Given the description of an element on the screen output the (x, y) to click on. 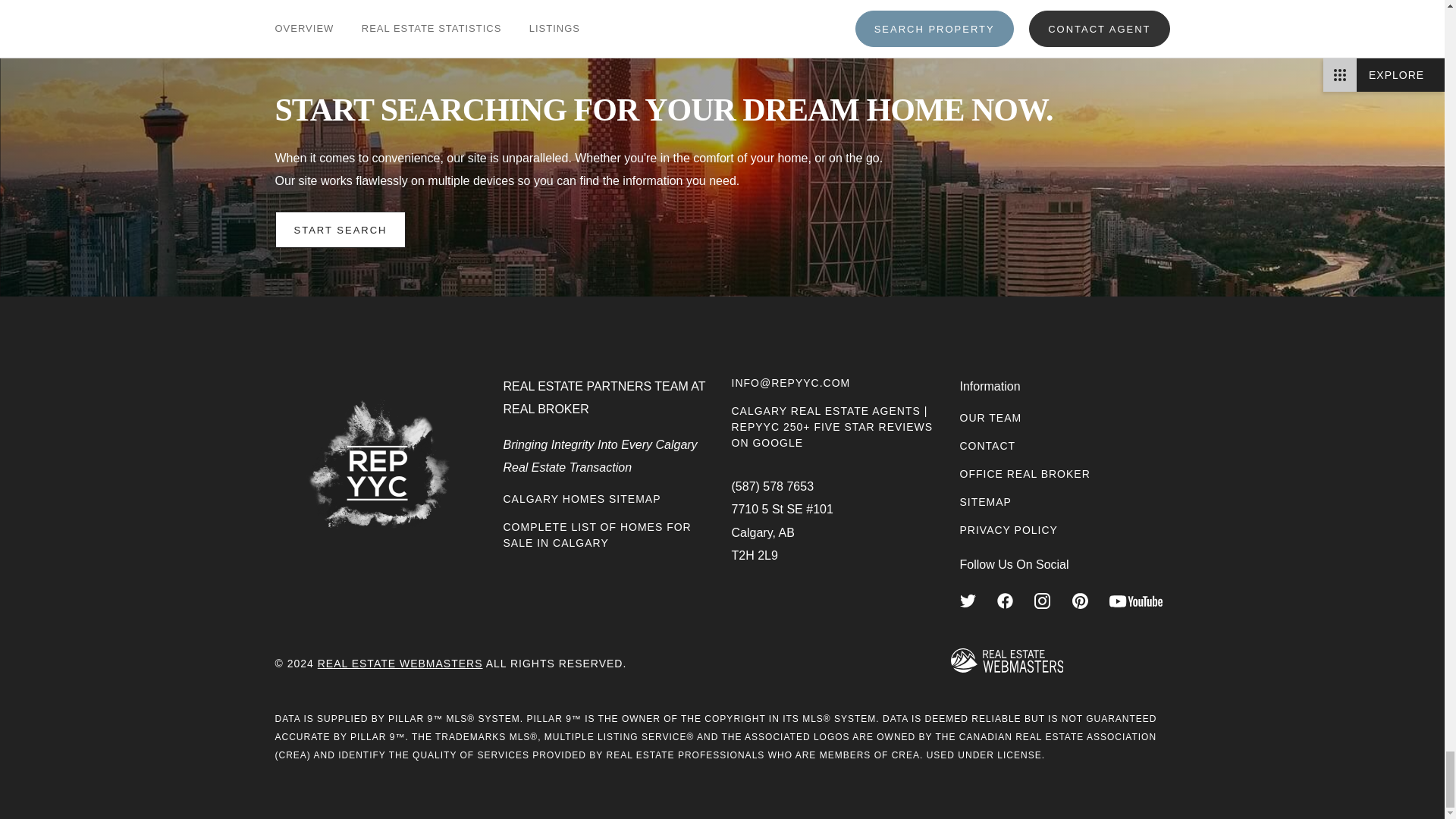
REALTOR PINTEREST (1079, 600)
REALTOR INSTAGRAM (1041, 600)
YOUTUBE (1135, 601)
FACEBOOK REAL ESTATE (1005, 600)
TWITTER (967, 600)
